Given the description of an element on the screen output the (x, y) to click on. 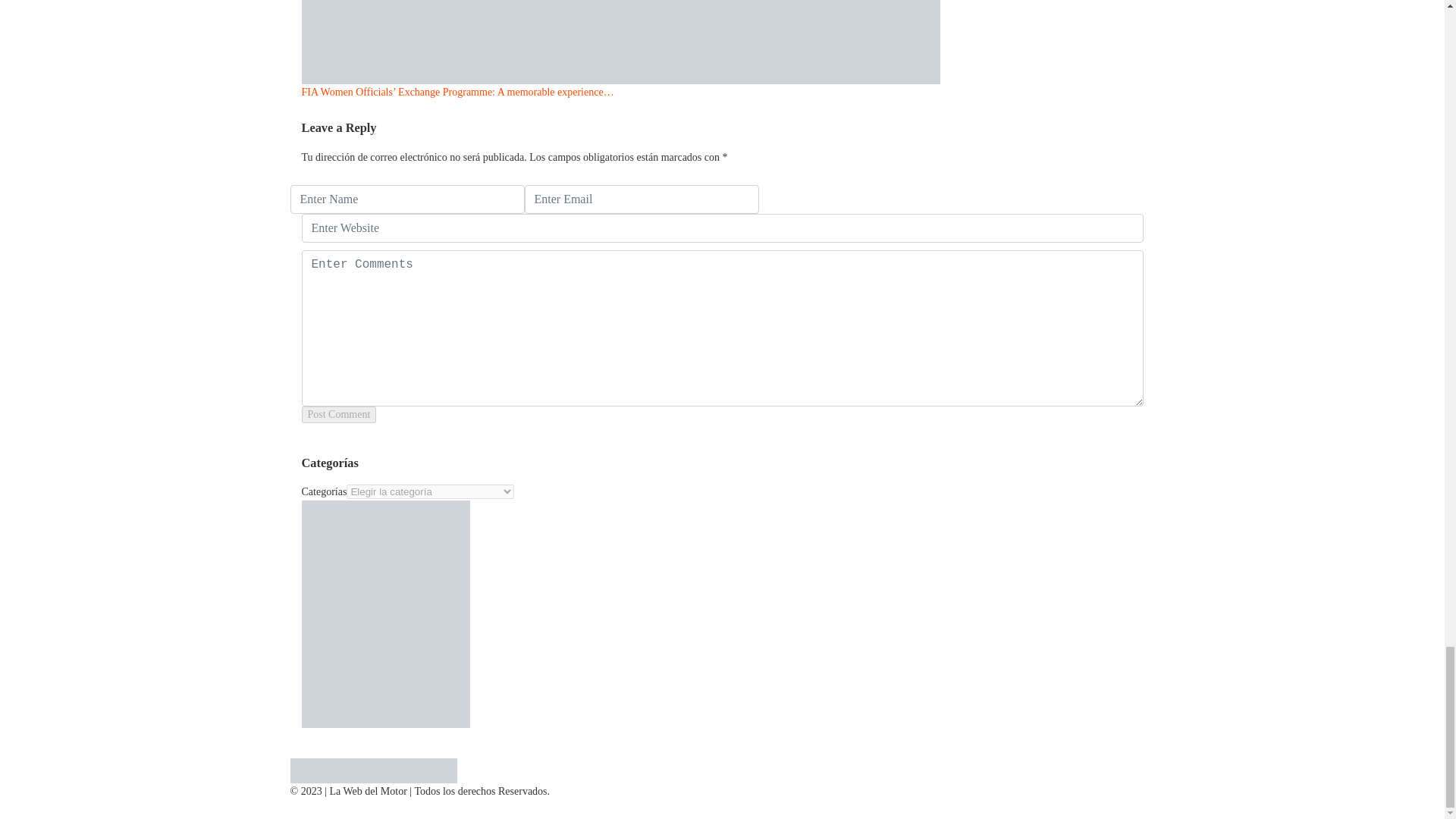
Post Comment (339, 414)
Post Comment (339, 414)
